Given the description of an element on the screen output the (x, y) to click on. 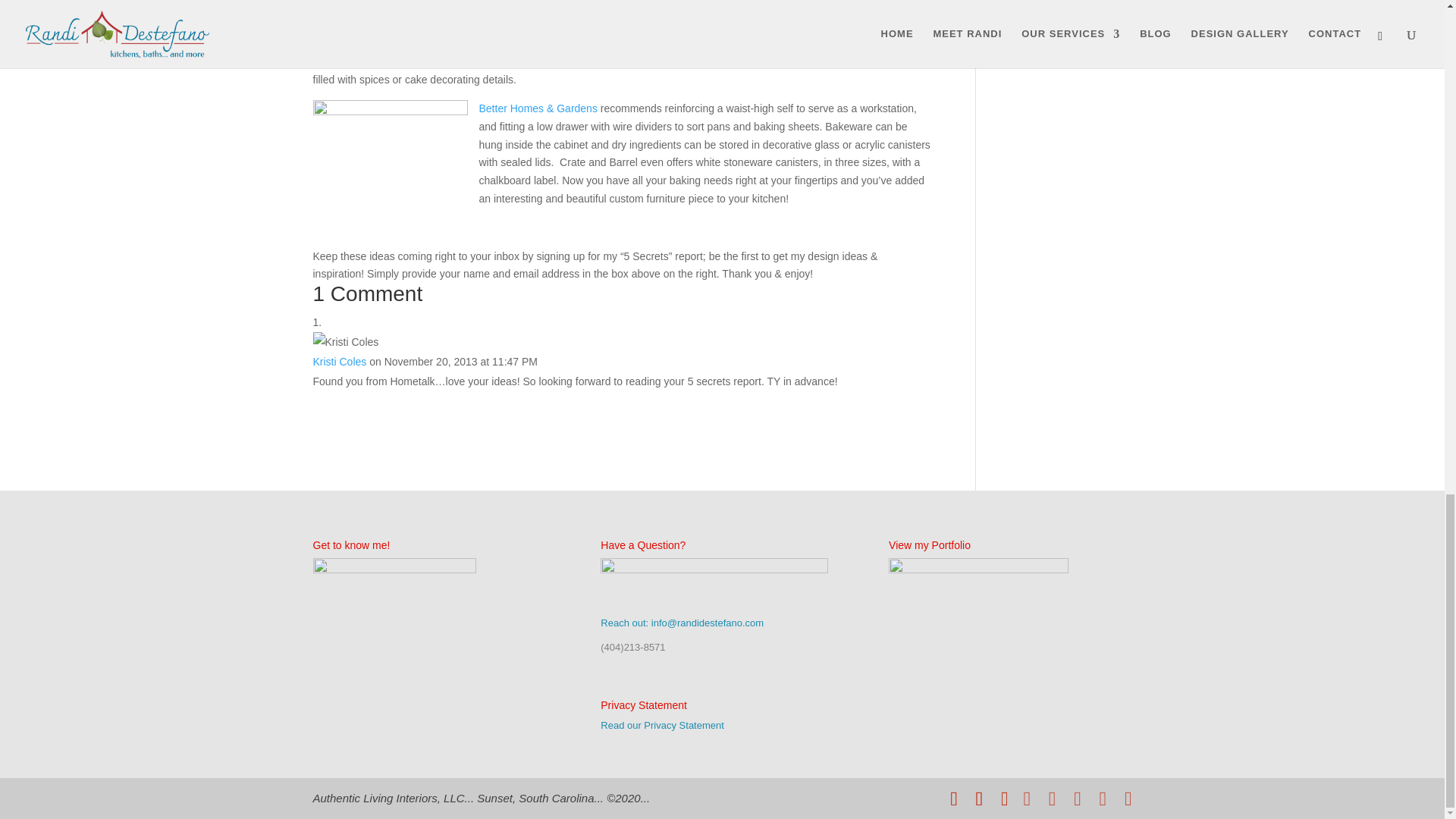
Kristi Coles (339, 361)
Read our Privacy Statement (661, 725)
Done For You Design (1060, 1)
